Given the description of an element on the screen output the (x, y) to click on. 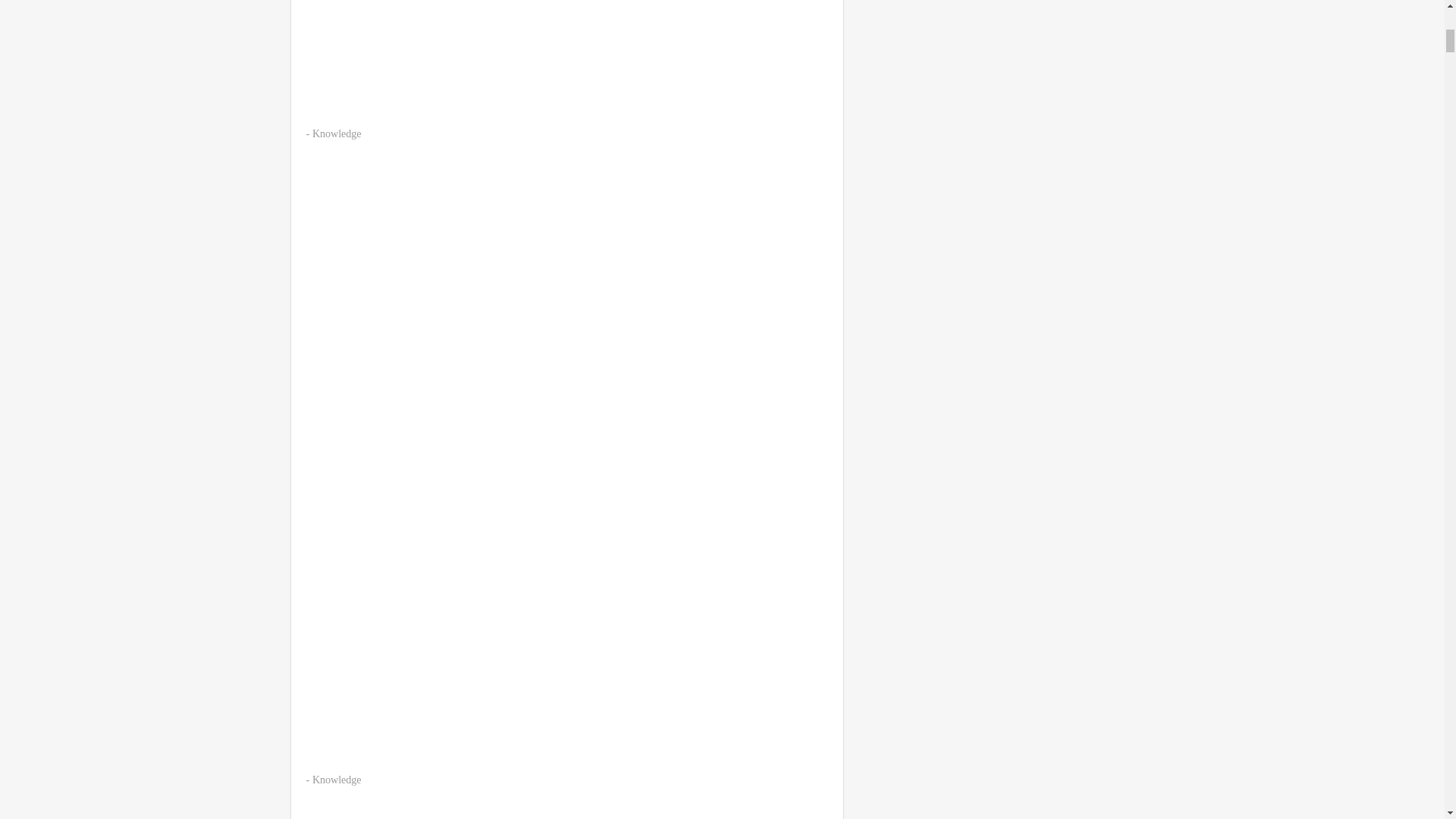
Knowledge (337, 779)
Knowledge (337, 133)
